Given the description of an element on the screen output the (x, y) to click on. 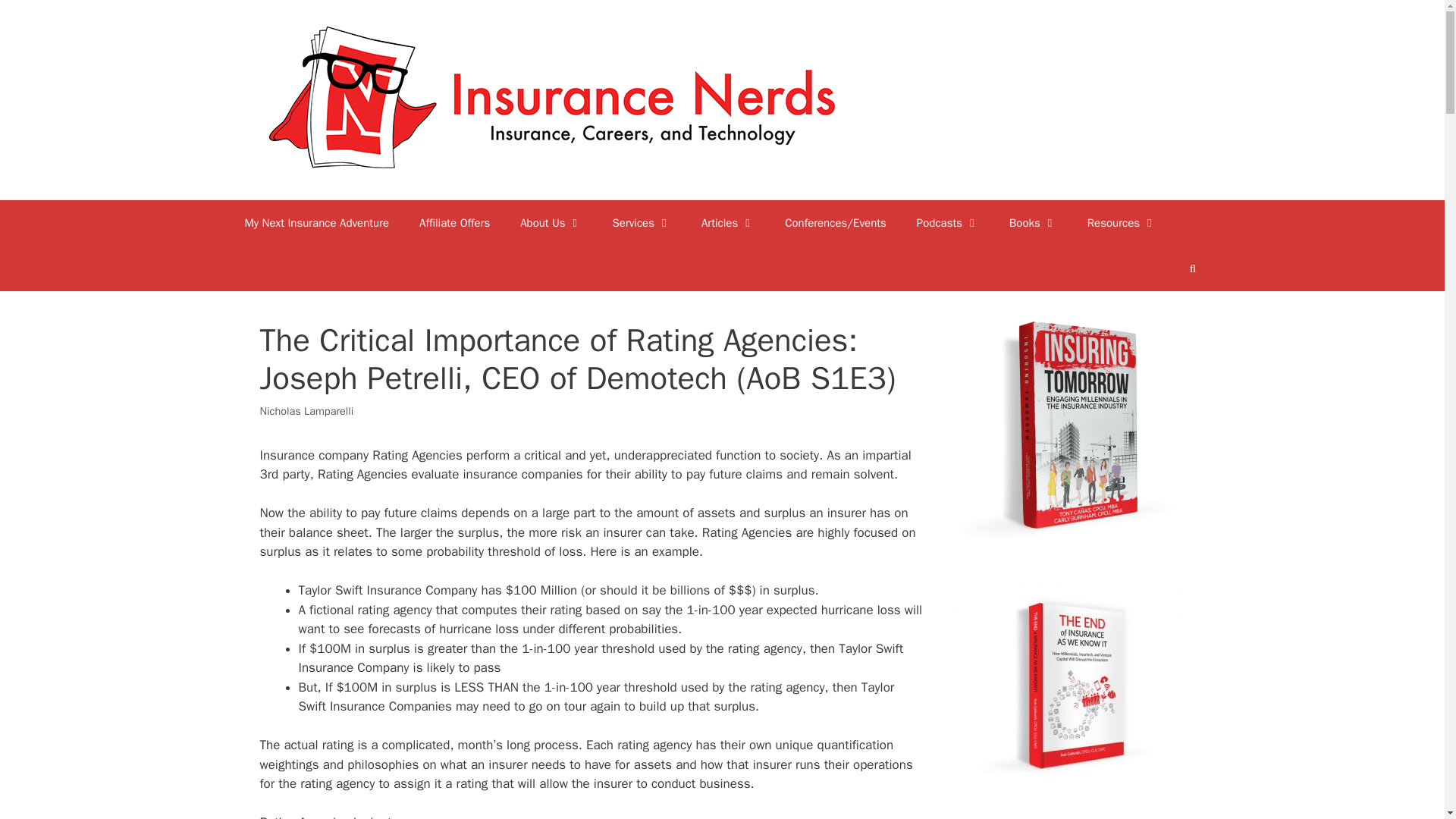
Affiliate Offers (454, 72)
Services (640, 72)
My Next Insurance Adventure (316, 72)
Articles (727, 72)
Books (1032, 72)
Podcasts (947, 72)
Nicholas Lamparelli (306, 260)
About Us (550, 72)
